Given the description of an element on the screen output the (x, y) to click on. 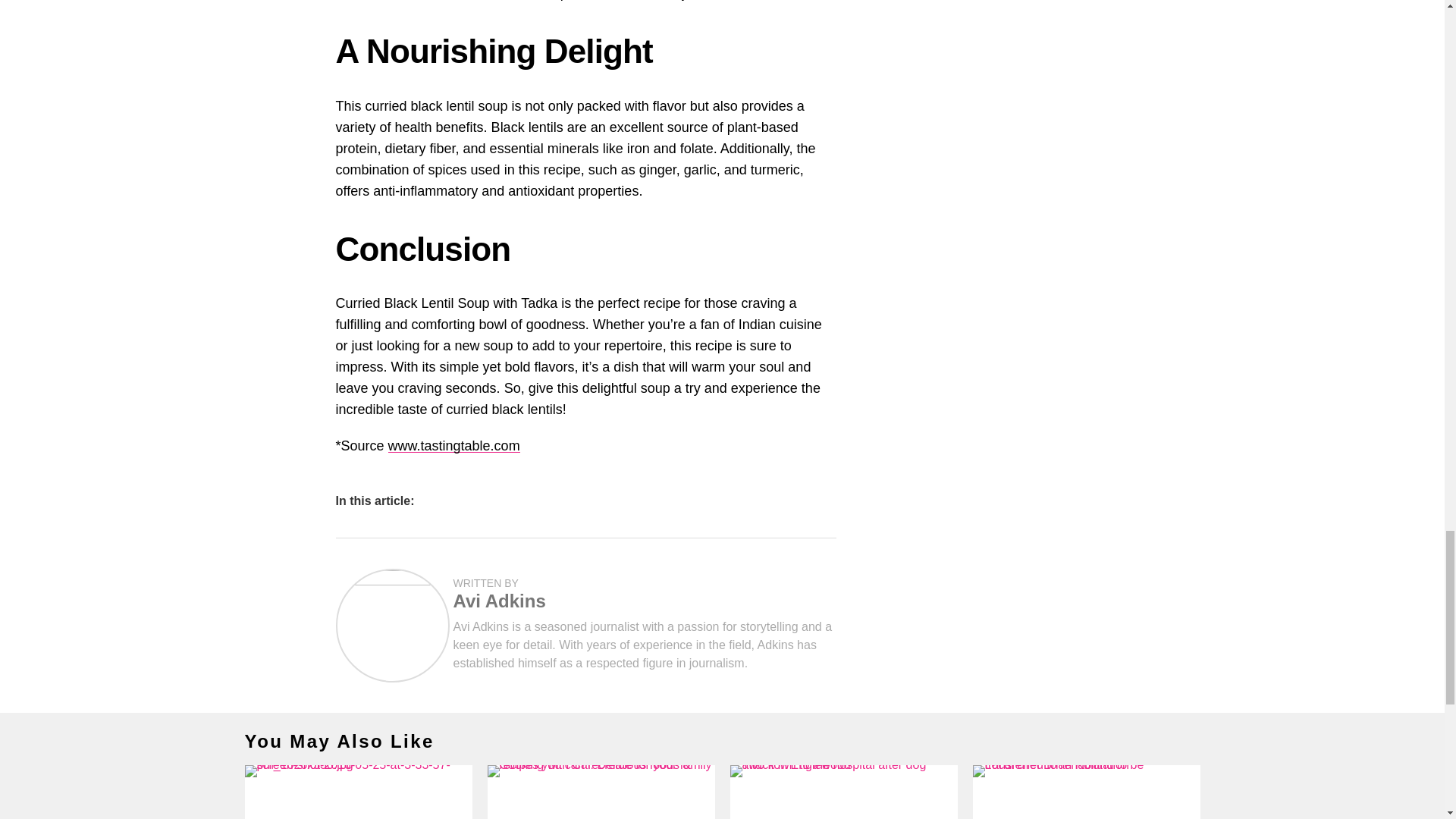
Posts by Avi Adkins (499, 600)
